Given the description of an element on the screen output the (x, y) to click on. 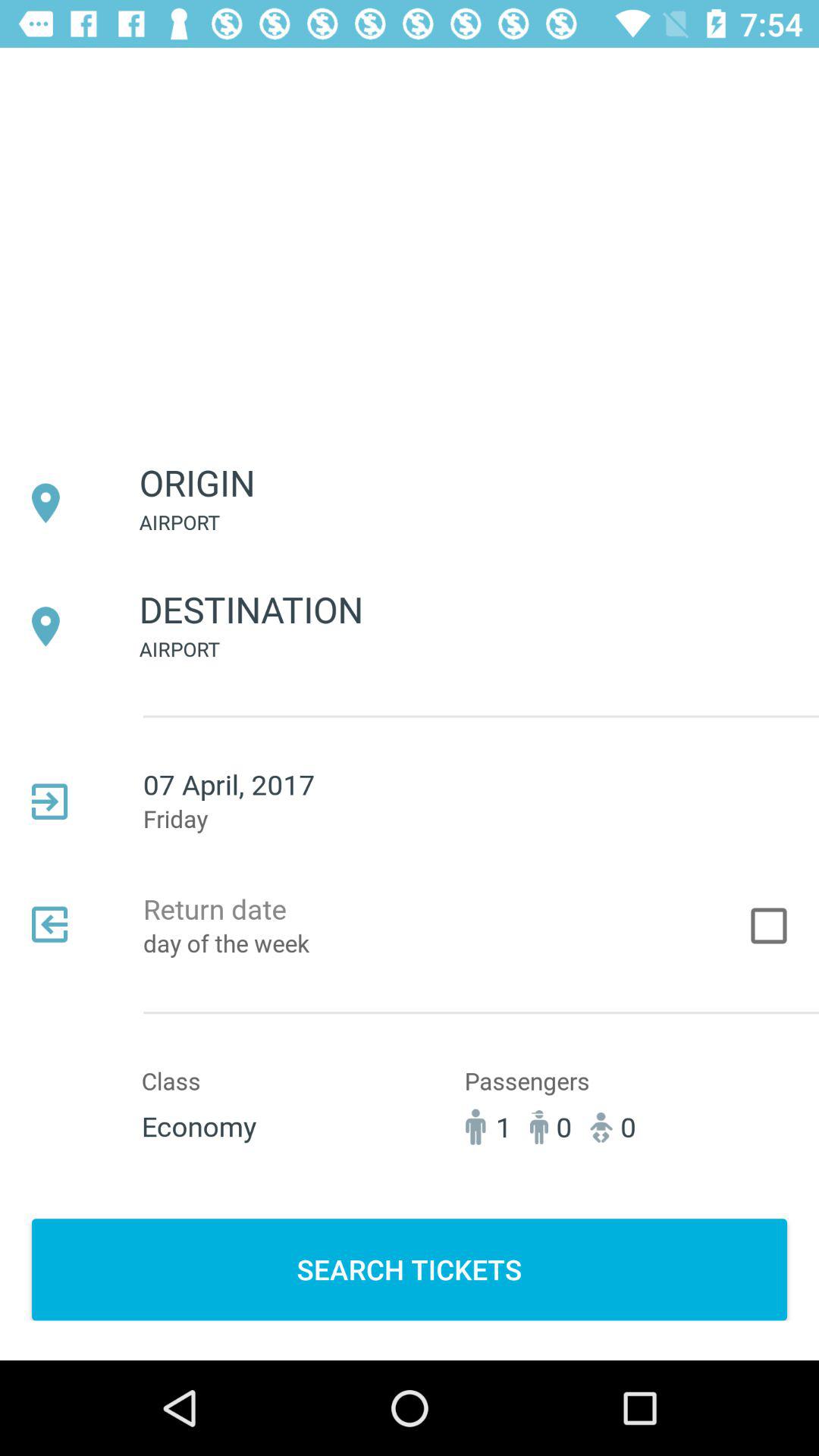
select search tickets button (409, 1269)
